Given the description of an element on the screen output the (x, y) to click on. 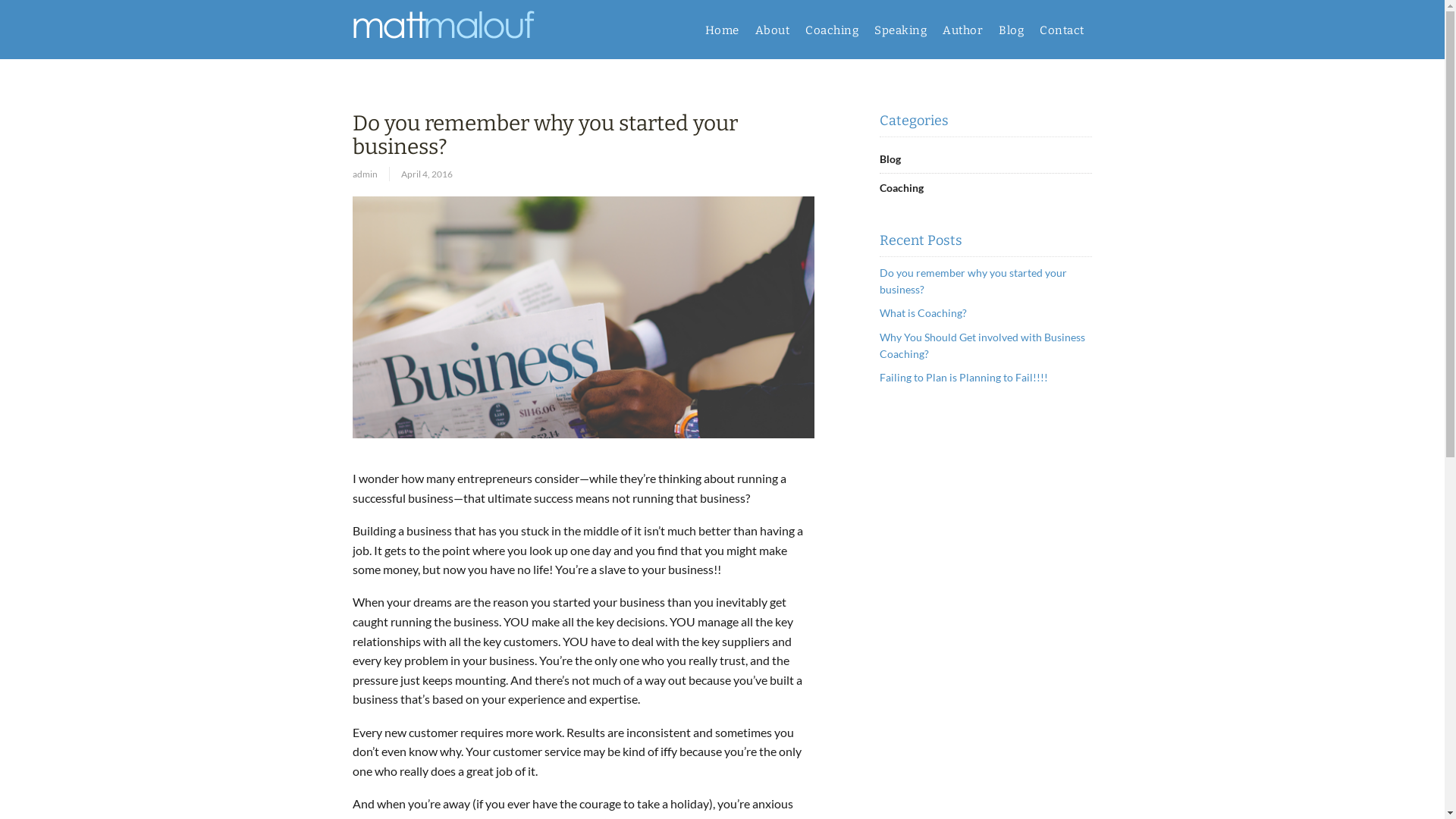
Why You Should Get involved with Business Coaching? Element type: text (982, 345)
Home Element type: text (721, 30)
What is Coaching? Element type: text (922, 312)
Coaching Element type: text (901, 187)
Blog Element type: text (1010, 30)
admin Element type: text (370, 173)
Contact Element type: text (1061, 30)
Speaking Element type: text (900, 30)
Failing to Plan is Planning to Fail!!!! Element type: text (963, 376)
About Element type: text (771, 30)
Matt Malouf Element type: hover (443, 46)
Author Element type: text (962, 30)
Coaching Element type: text (831, 30)
Do you remember why you started your business? Element type: text (972, 280)
Blog Element type: text (889, 158)
